Given the description of an element on the screen output the (x, y) to click on. 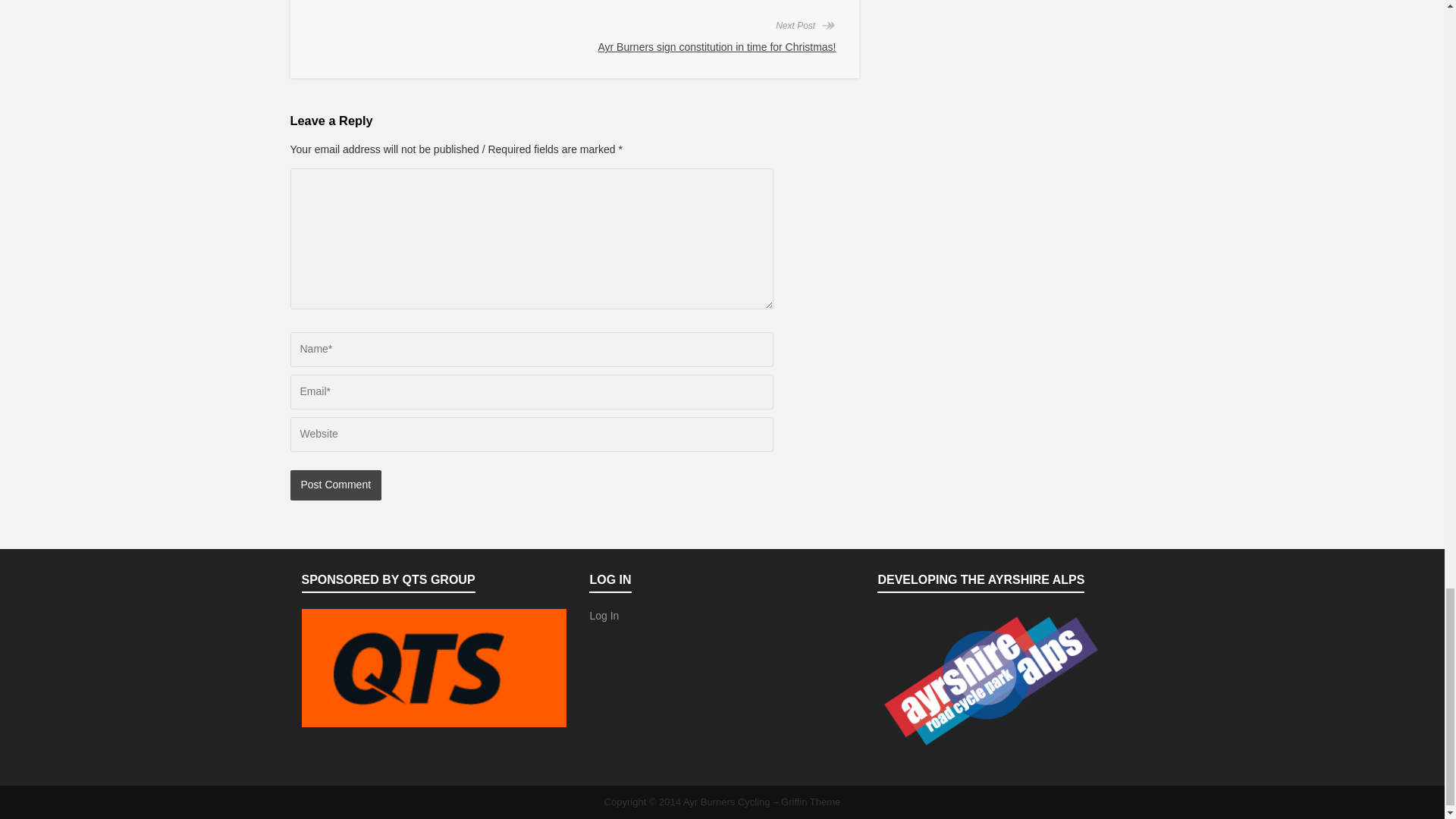
Ayr Burners sign constitution in time for Christmas! (715, 46)
Ayr Burners Cycling (726, 801)
Post Comment (335, 485)
Post Comment (335, 485)
Griffin Theme (810, 801)
Log In (603, 615)
